Given the description of an element on the screen output the (x, y) to click on. 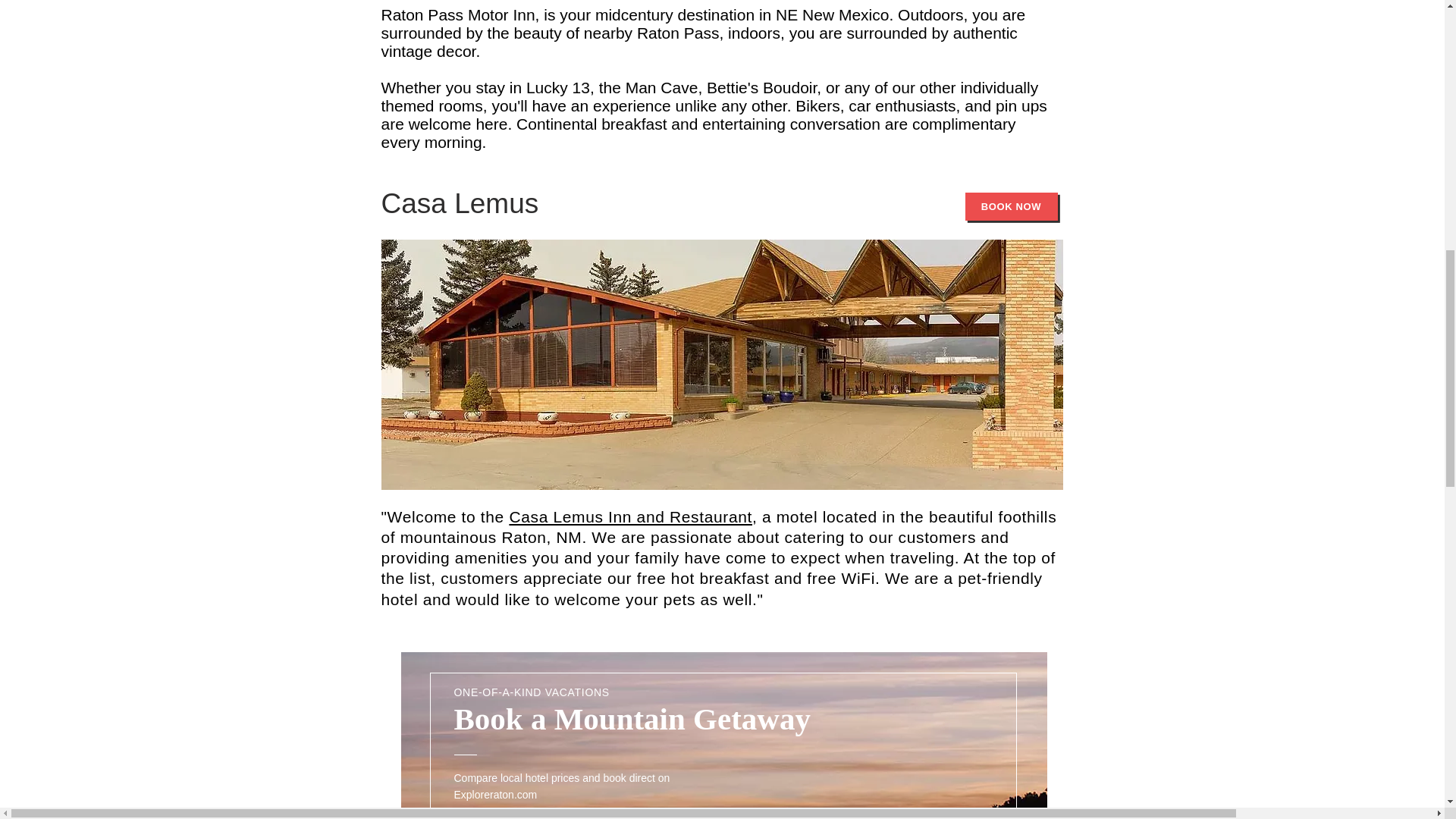
BOOK NOW (1010, 206)
Casa Lemus (459, 203)
Casa Lemus Inn and Restaurant (630, 516)
